Given the description of an element on the screen output the (x, y) to click on. 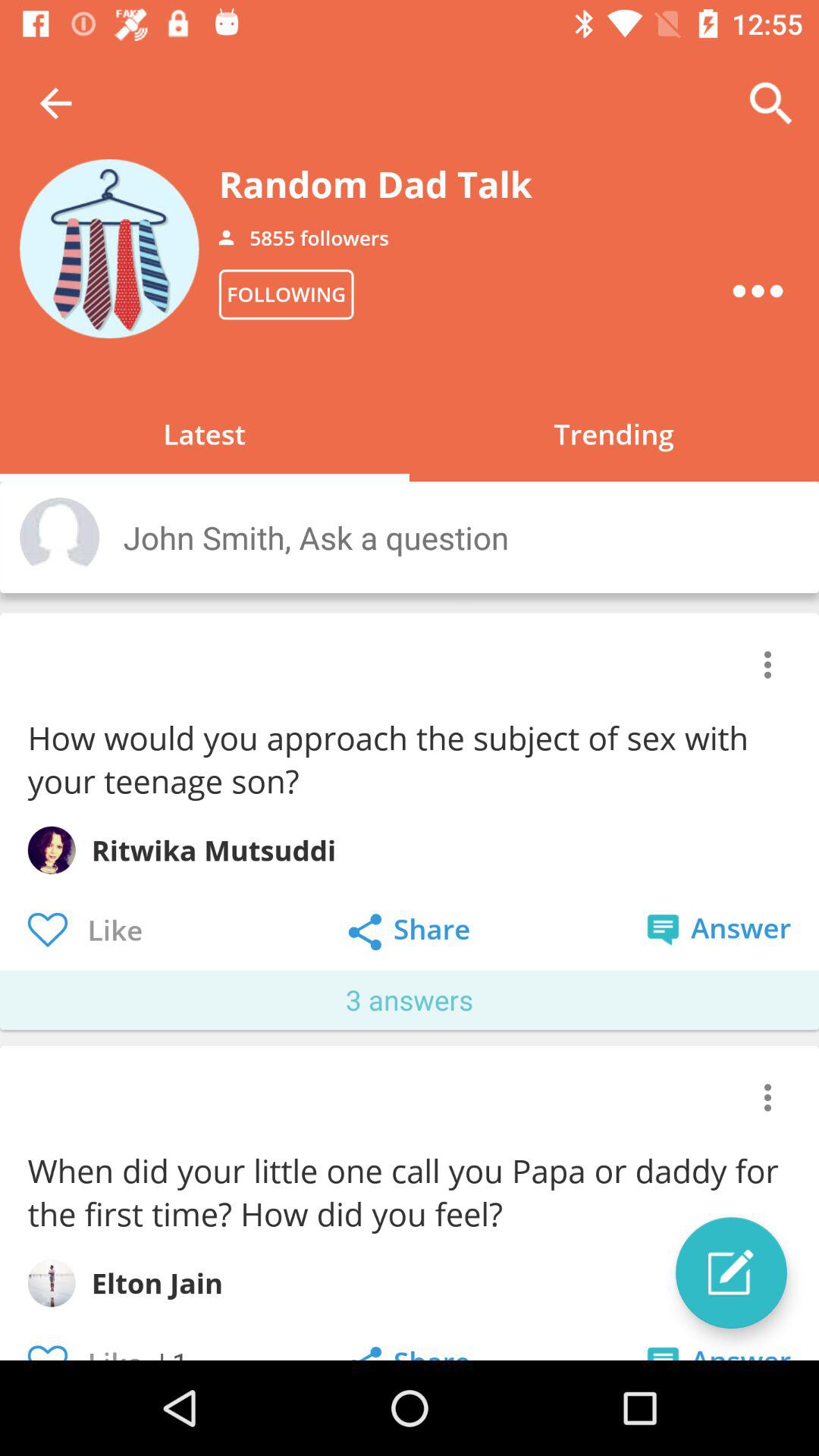
press following (285, 294)
